Given the description of an element on the screen output the (x, y) to click on. 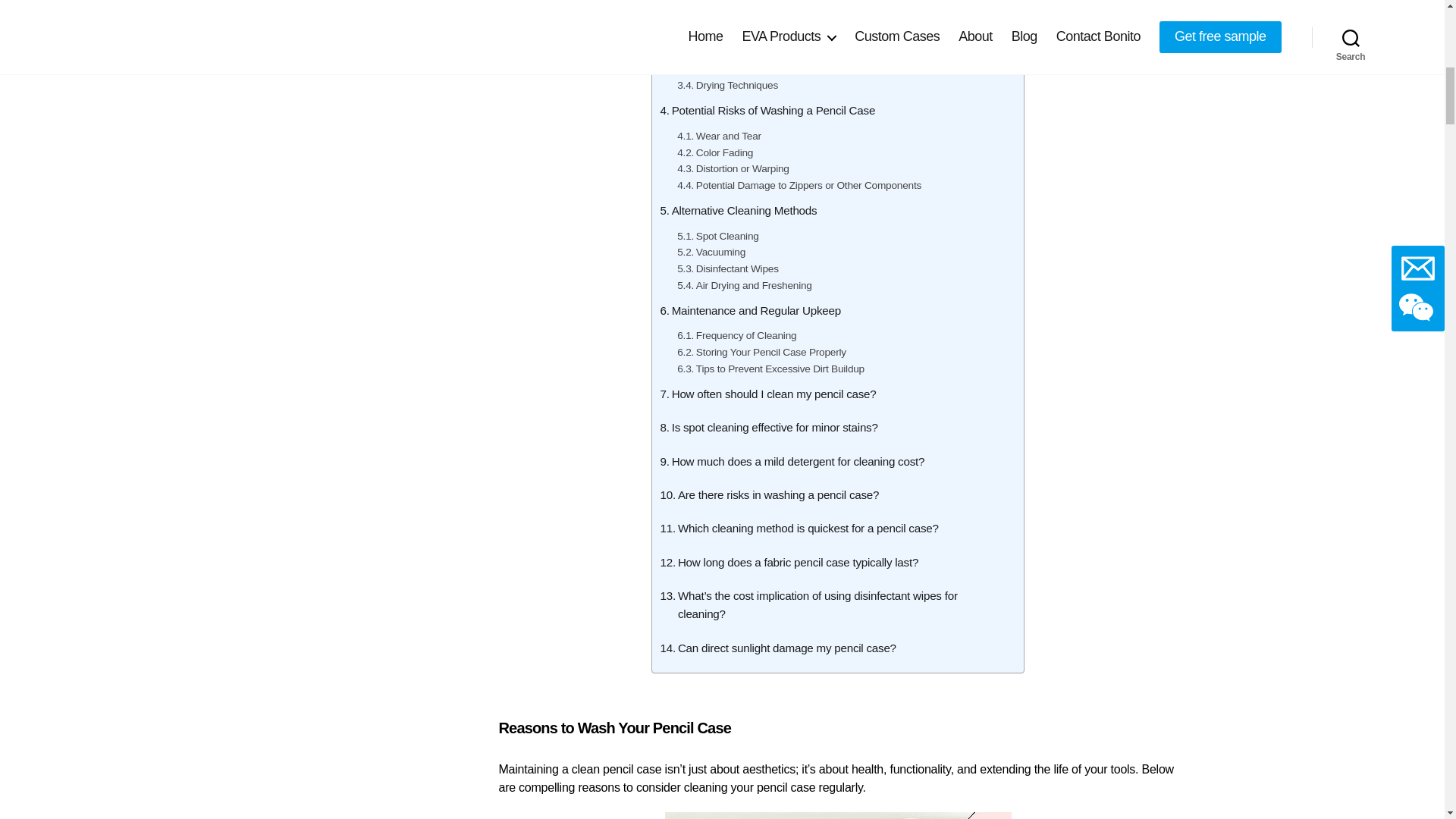
Emptying the Case (728, 53)
Choosing the Right Cleaning Method (768, 69)
Wear and Tear (719, 135)
Steps to Properly Clean a Pencil Case (759, 13)
Pre-cleaning Evaluation (738, 36)
Drying Techniques (727, 85)
Potential Risks of Washing a Pencil Case (767, 110)
